Given the description of an element on the screen output the (x, y) to click on. 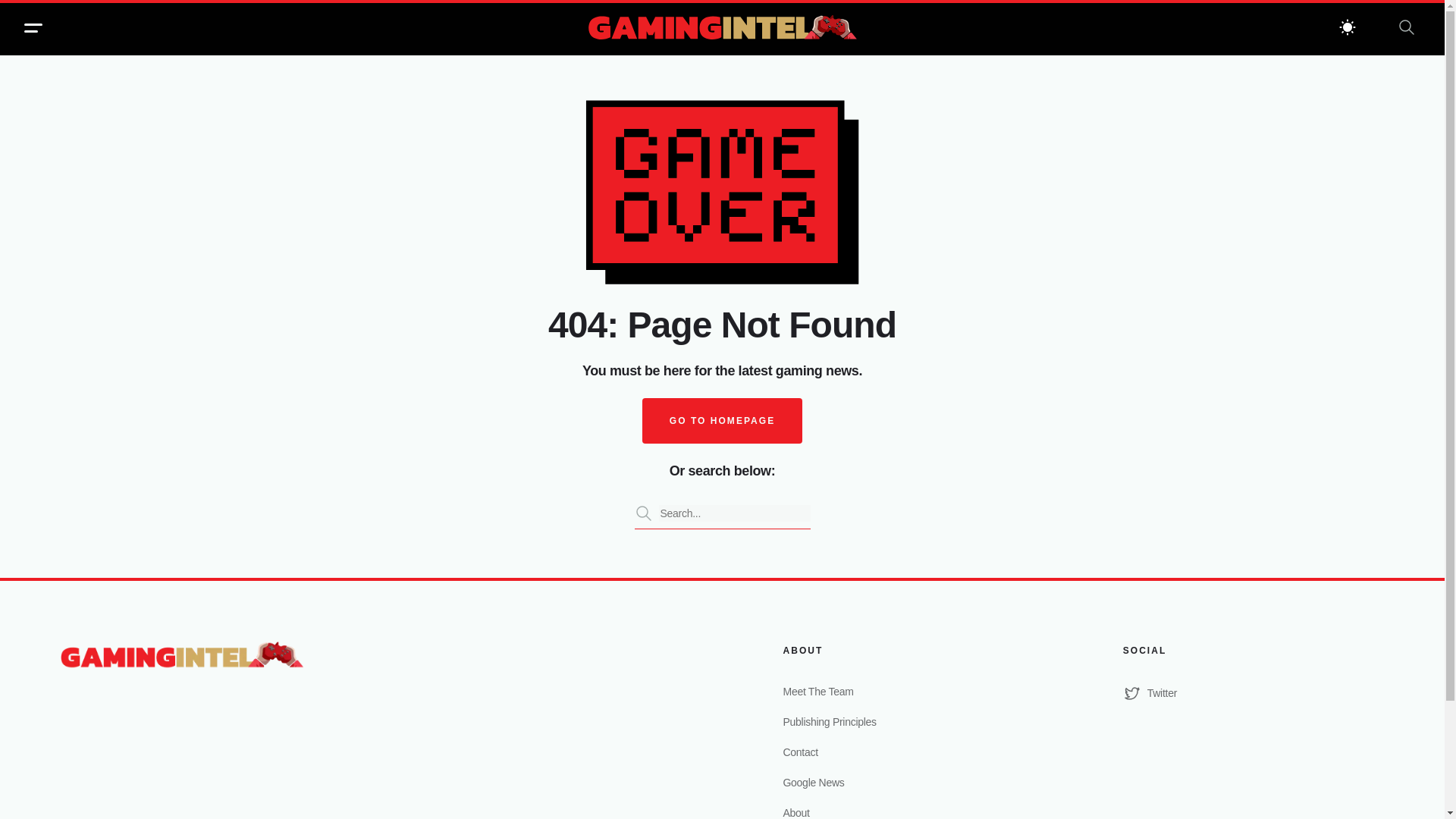
Publishing Principles (913, 721)
Meet The Team (913, 691)
About (913, 812)
Gaming Intel (722, 28)
Twitter (1253, 692)
Google News (913, 782)
GO TO HOMEPAGE (722, 420)
Contact (913, 752)
